Given the description of an element on the screen output the (x, y) to click on. 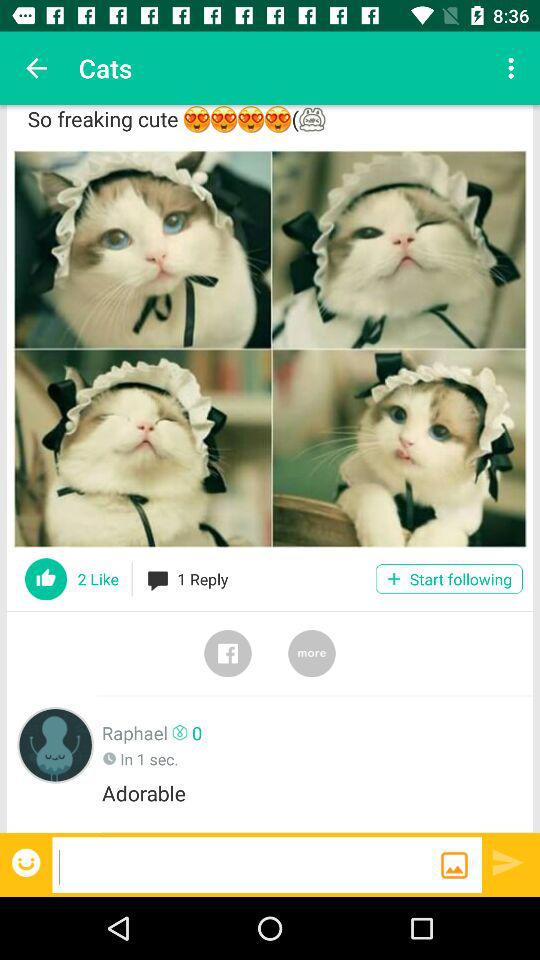
switch more option (312, 653)
